Given the description of an element on the screen output the (x, y) to click on. 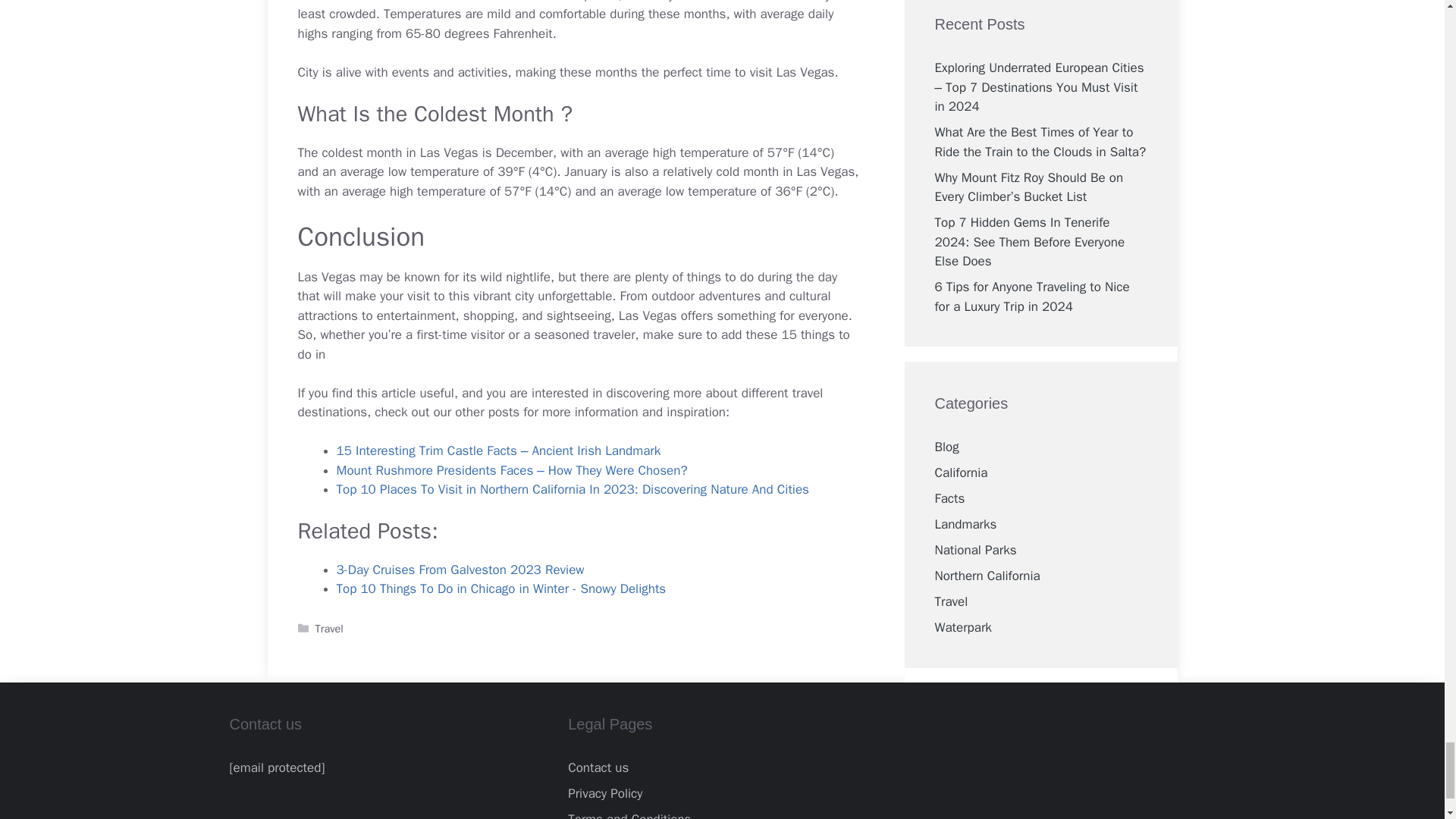
Terms and Conditions (628, 815)
Top 10 Things To Do in Chicago in Winter - Snowy Delights (501, 588)
Privacy Policy (604, 793)
Contact us (597, 767)
Travel (329, 628)
3-Day Cruises From Galveston 2023 Review (460, 569)
